Given the description of an element on the screen output the (x, y) to click on. 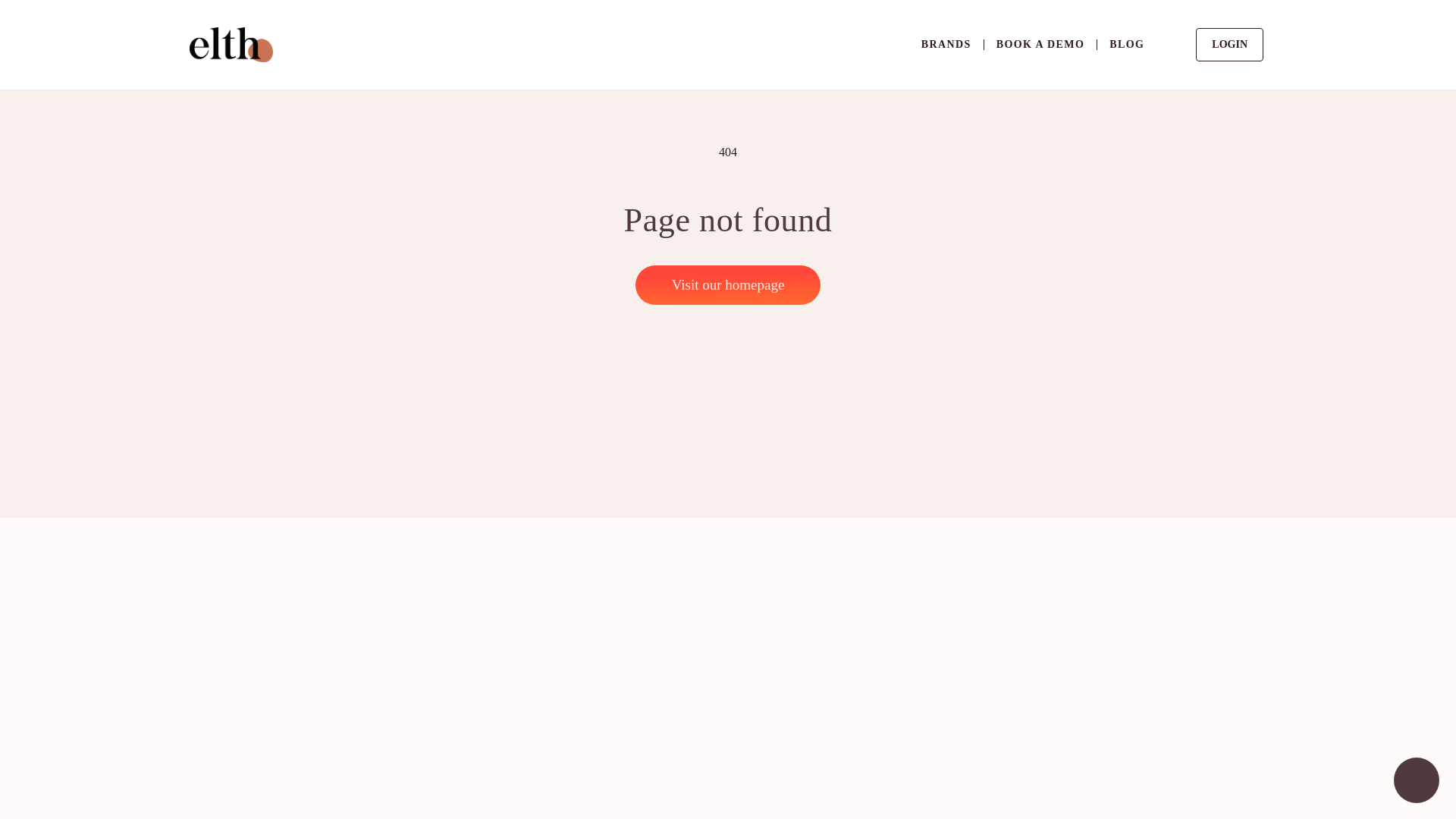
FAQs (813, 630)
Visit our homepage (727, 284)
contact us here (364, 791)
Skip to content (92, 19)
Privacy policy (837, 730)
BRANDS (946, 44)
Professional Account Login (605, 696)
Shopify online store chat (1158, 686)
BOOK A DEMO (1416, 781)
